Given the description of an element on the screen output the (x, y) to click on. 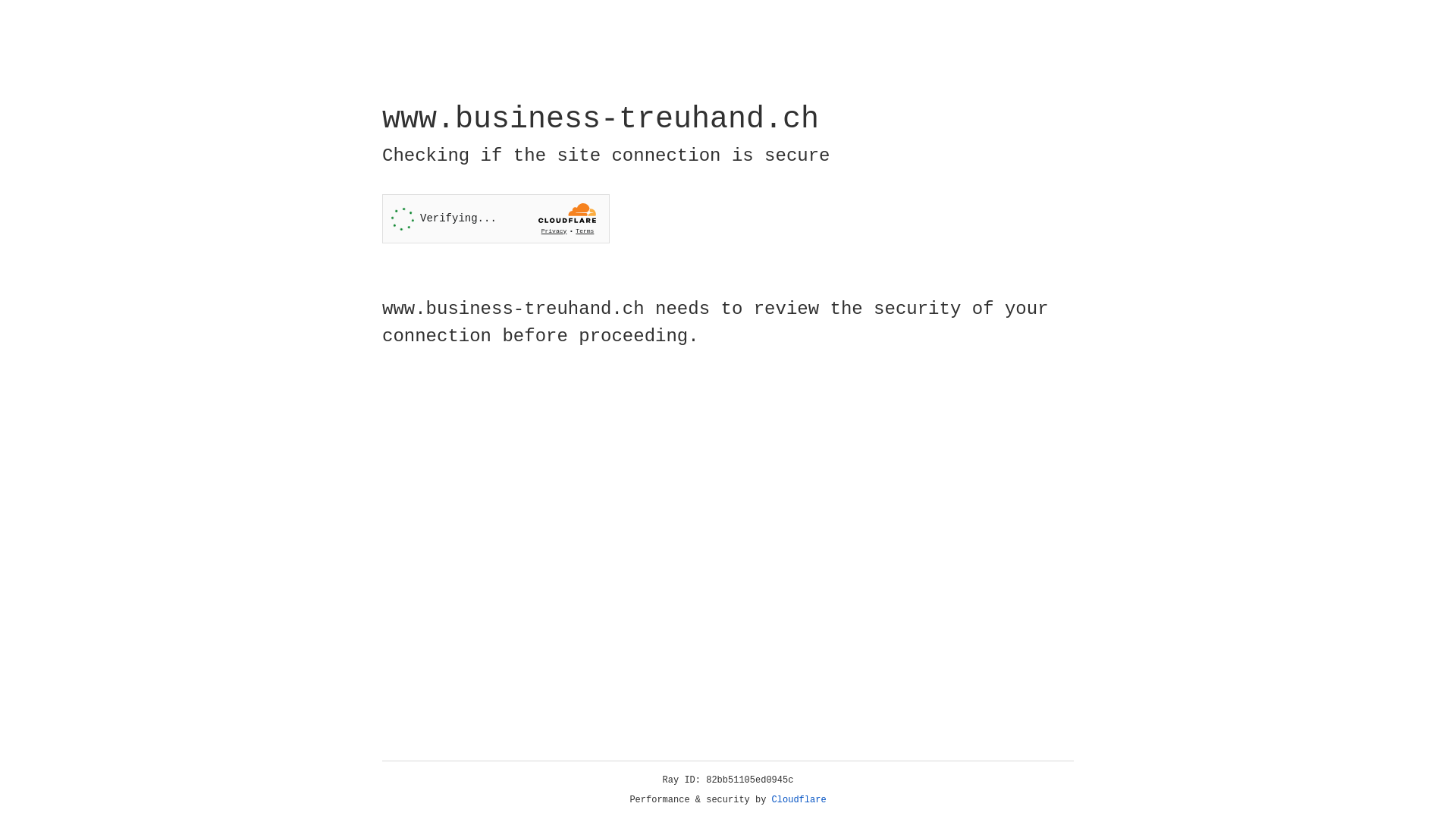
Widget containing a Cloudflare security challenge Element type: hover (495, 218)
Cloudflare Element type: text (798, 799)
